Given the description of an element on the screen output the (x, y) to click on. 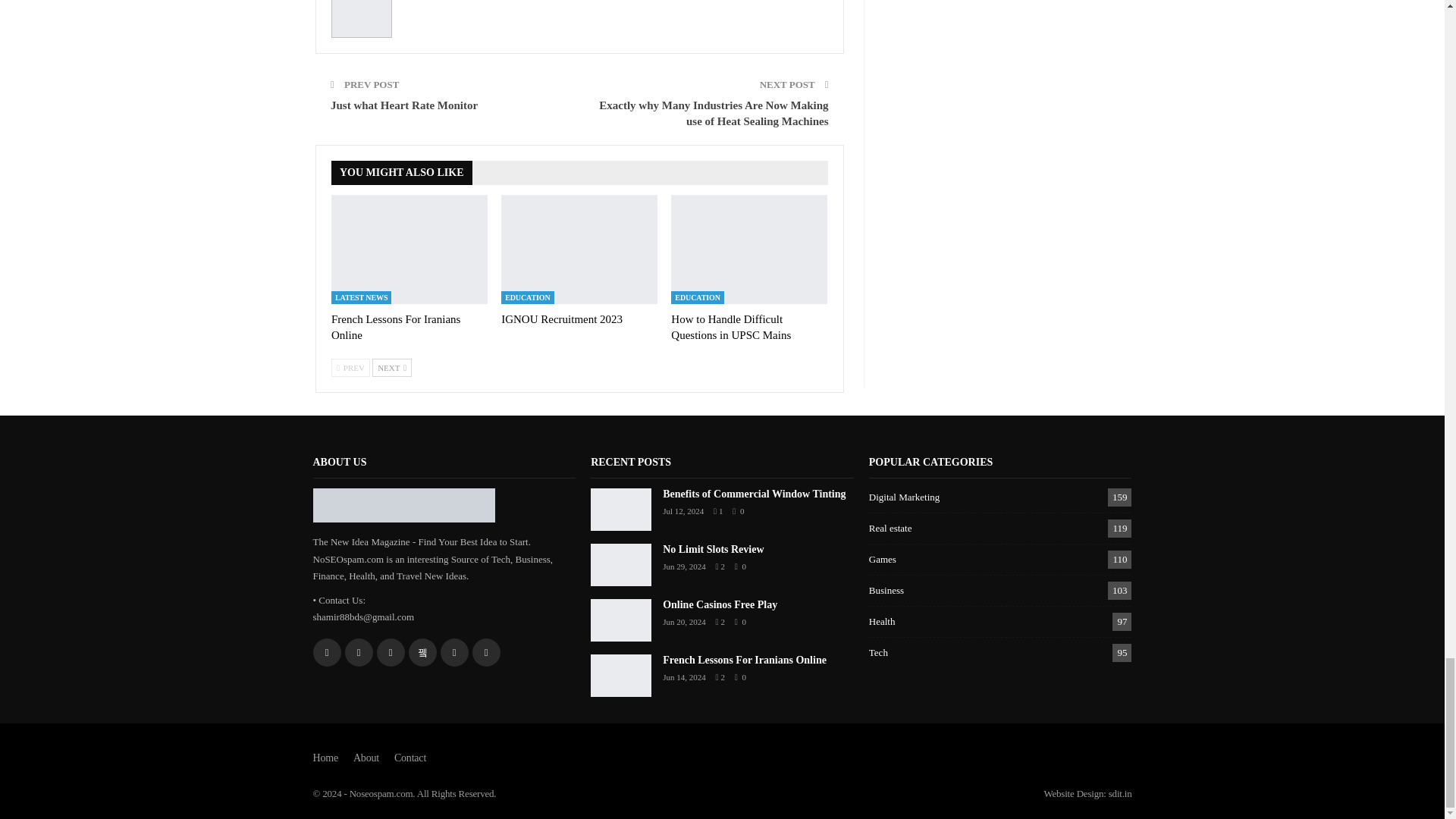
IGNOU Recruitment 2023 (561, 318)
Previous (350, 367)
How to Handle Difficult Questions in UPSC Mains (730, 326)
French Lessons For Iranians Online (409, 248)
French Lessons For Iranians Online (395, 326)
Next (392, 367)
IGNOU Recruitment 2023 (579, 248)
How to Handle Difficult Questions in UPSC Mains (749, 248)
